Given the description of an element on the screen output the (x, y) to click on. 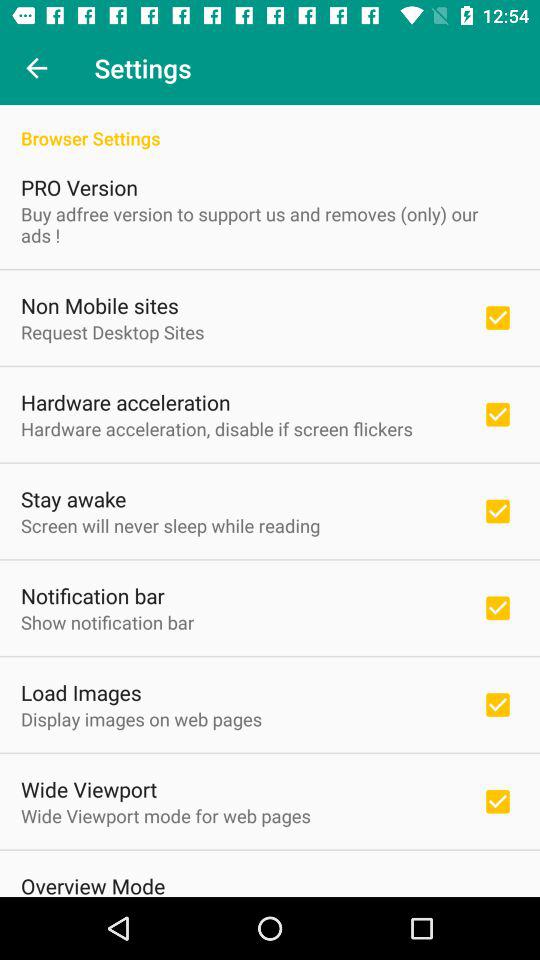
click item below the load images icon (141, 718)
